Given the description of an element on the screen output the (x, y) to click on. 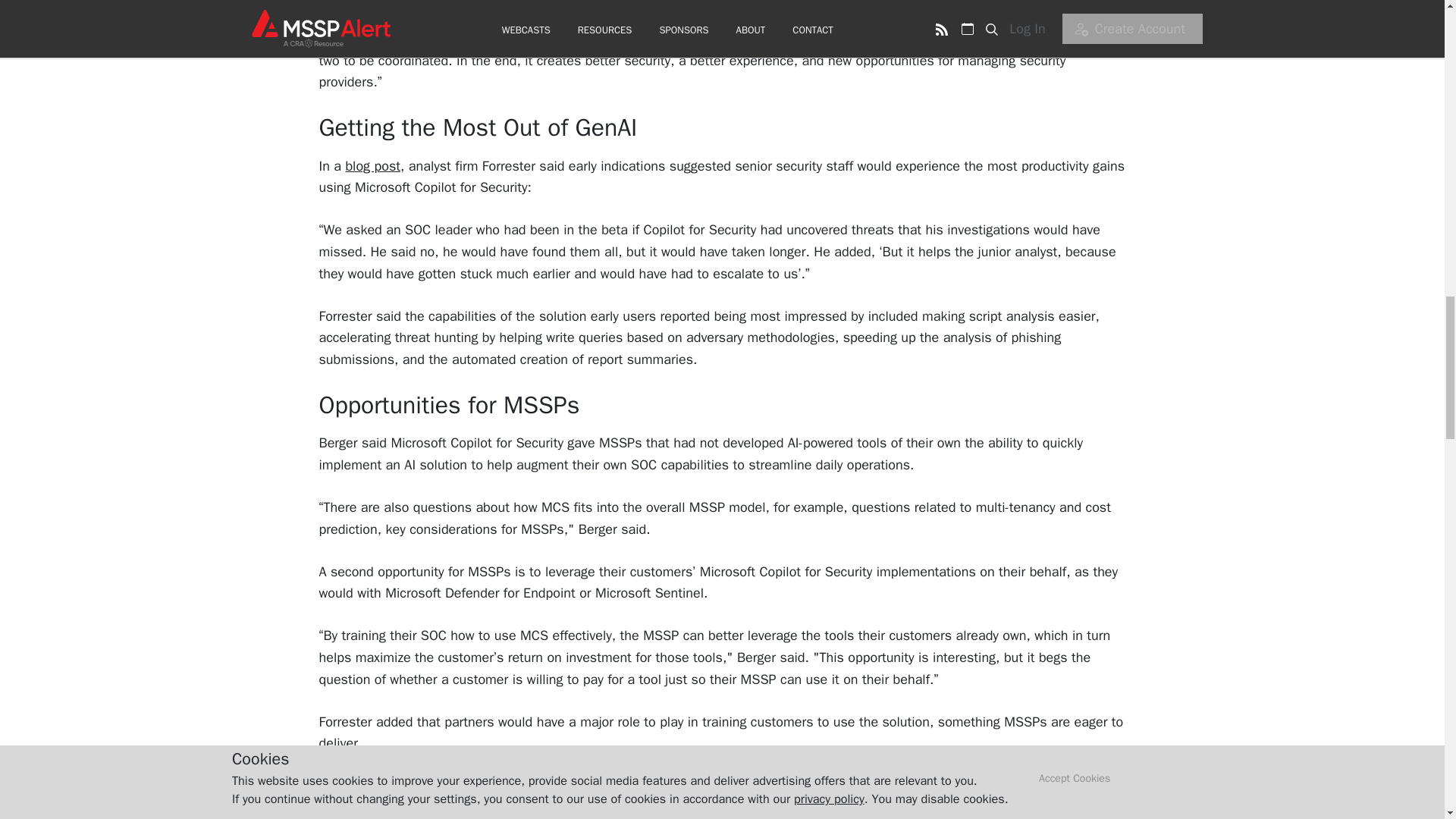
blog post (372, 166)
